Given the description of an element on the screen output the (x, y) to click on. 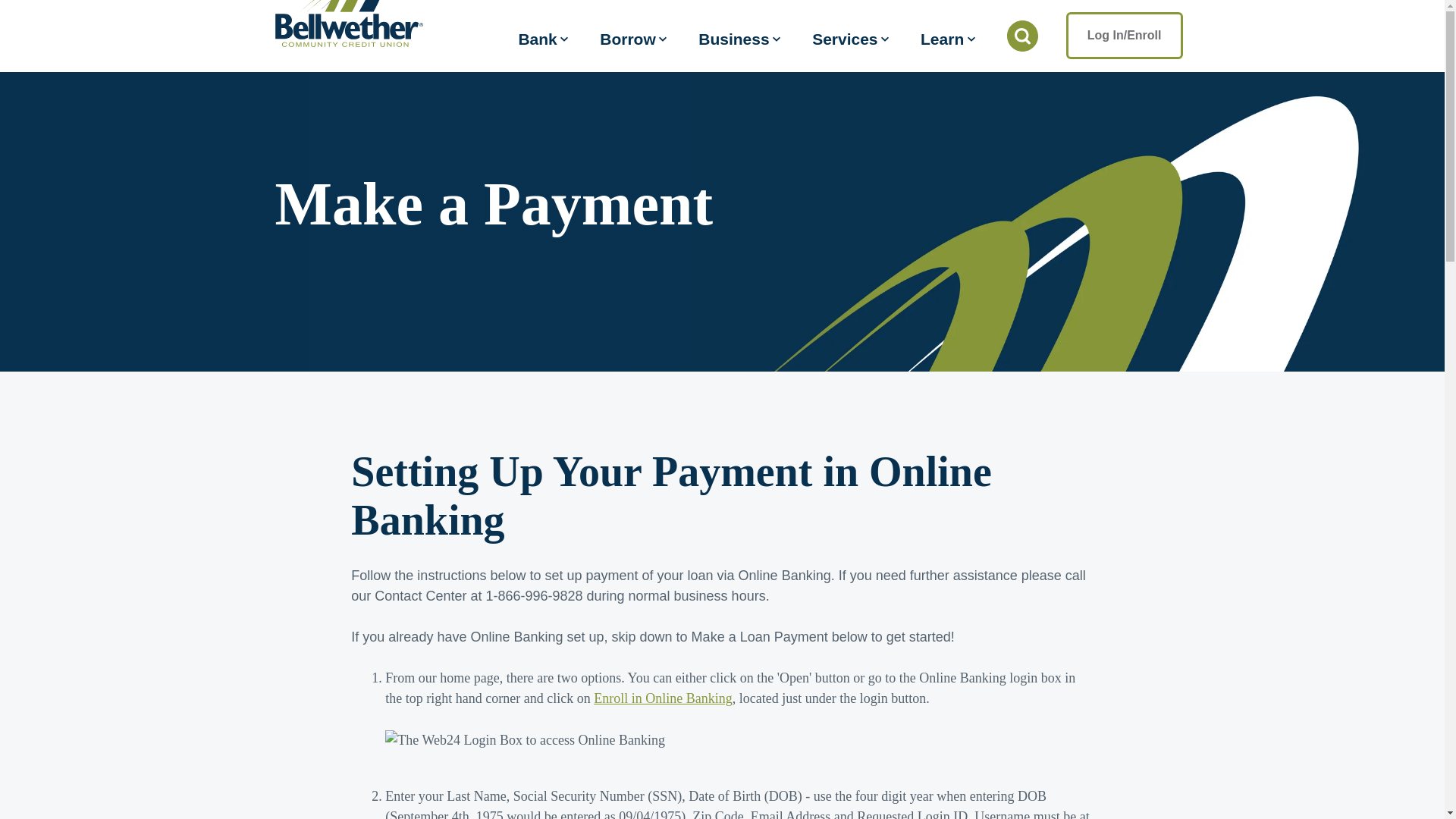
Careers (826, 25)
Rates (684, 25)
Pay Your Loan (1014, 25)
About Bellwether (918, 25)
Open Account (1123, 25)
Open Account (1123, 25)
Locations (753, 25)
